Given the description of an element on the screen output the (x, y) to click on. 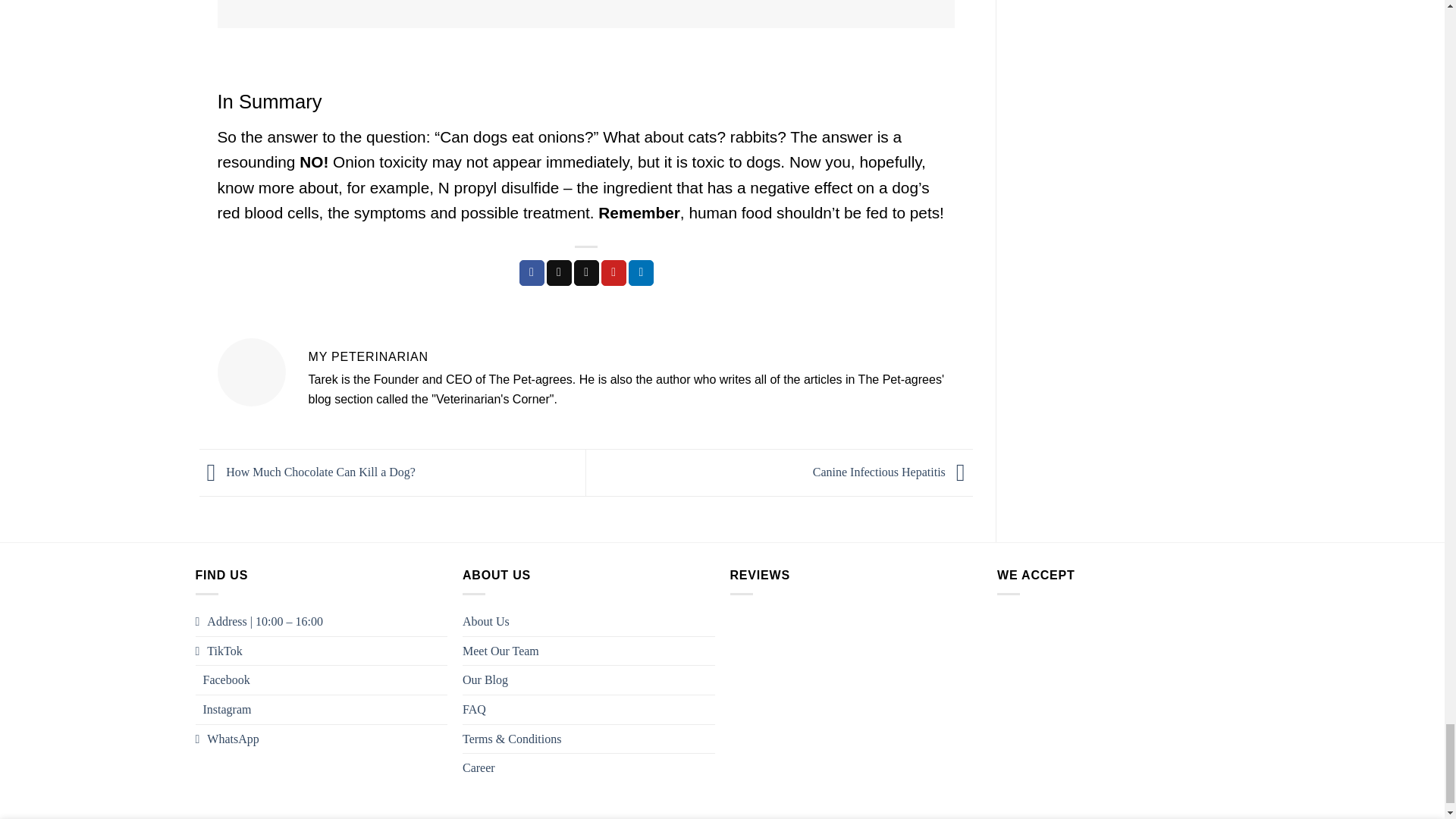
Pin on Pinterest (613, 272)
Email to a Friend (585, 272)
Share on Facebook (531, 272)
Share on X (559, 272)
Share on LinkedIn (640, 272)
